Given the description of an element on the screen output the (x, y) to click on. 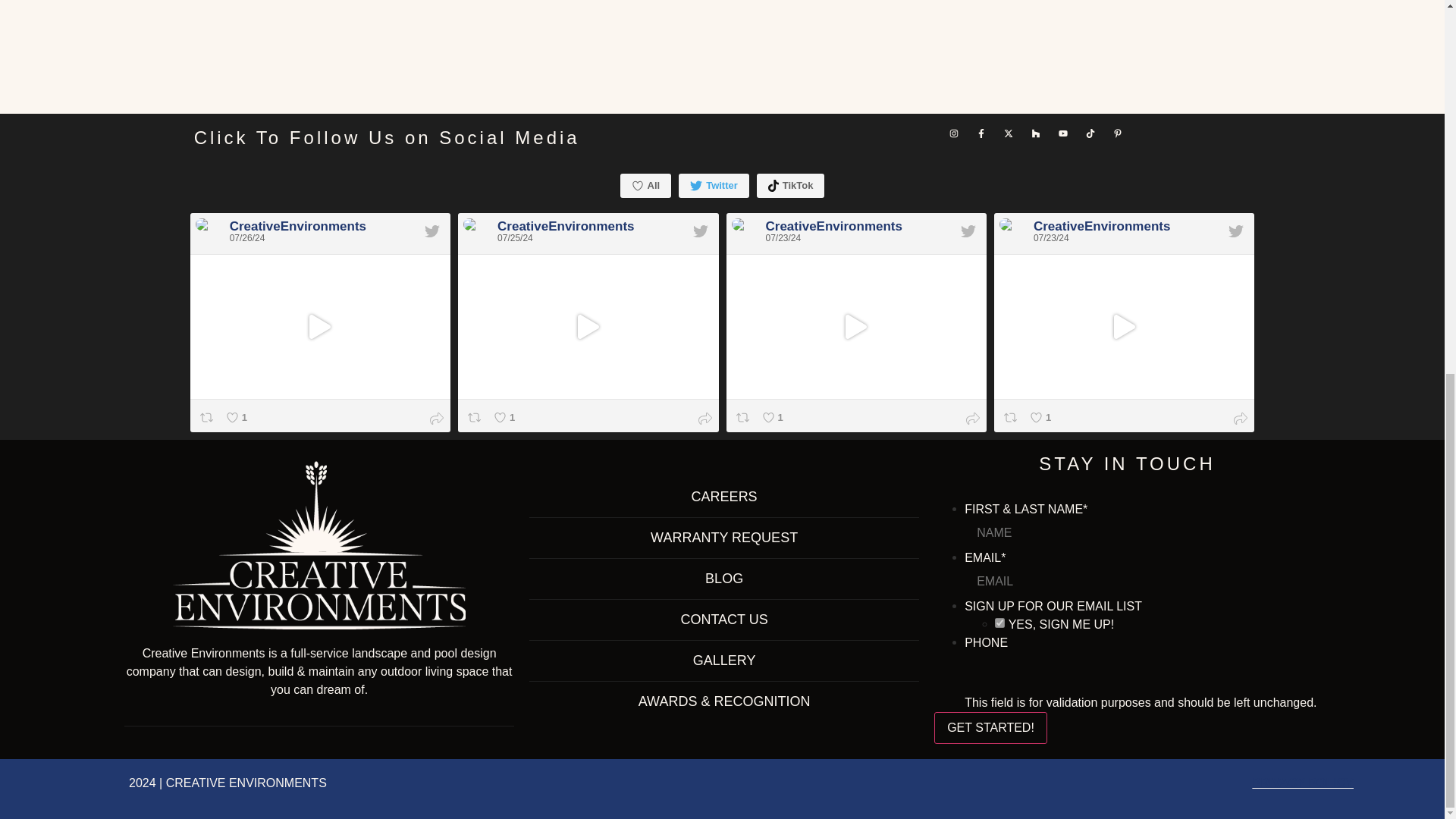
Get Started! (990, 727)
YES, SIGN ME UP! (999, 623)
